Given the description of an element on the screen output the (x, y) to click on. 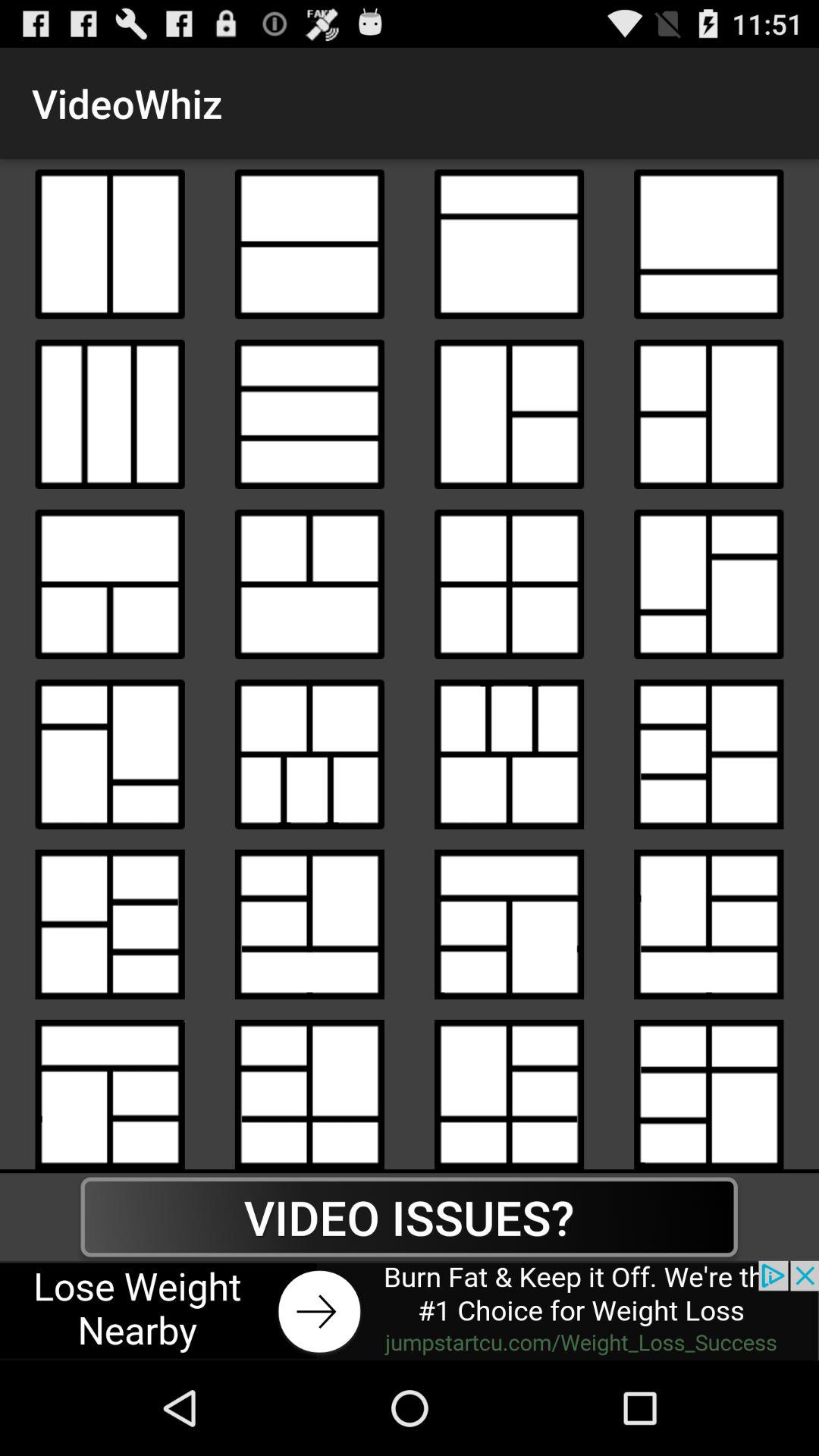
model of a grid (708, 584)
